Given the description of an element on the screen output the (x, y) to click on. 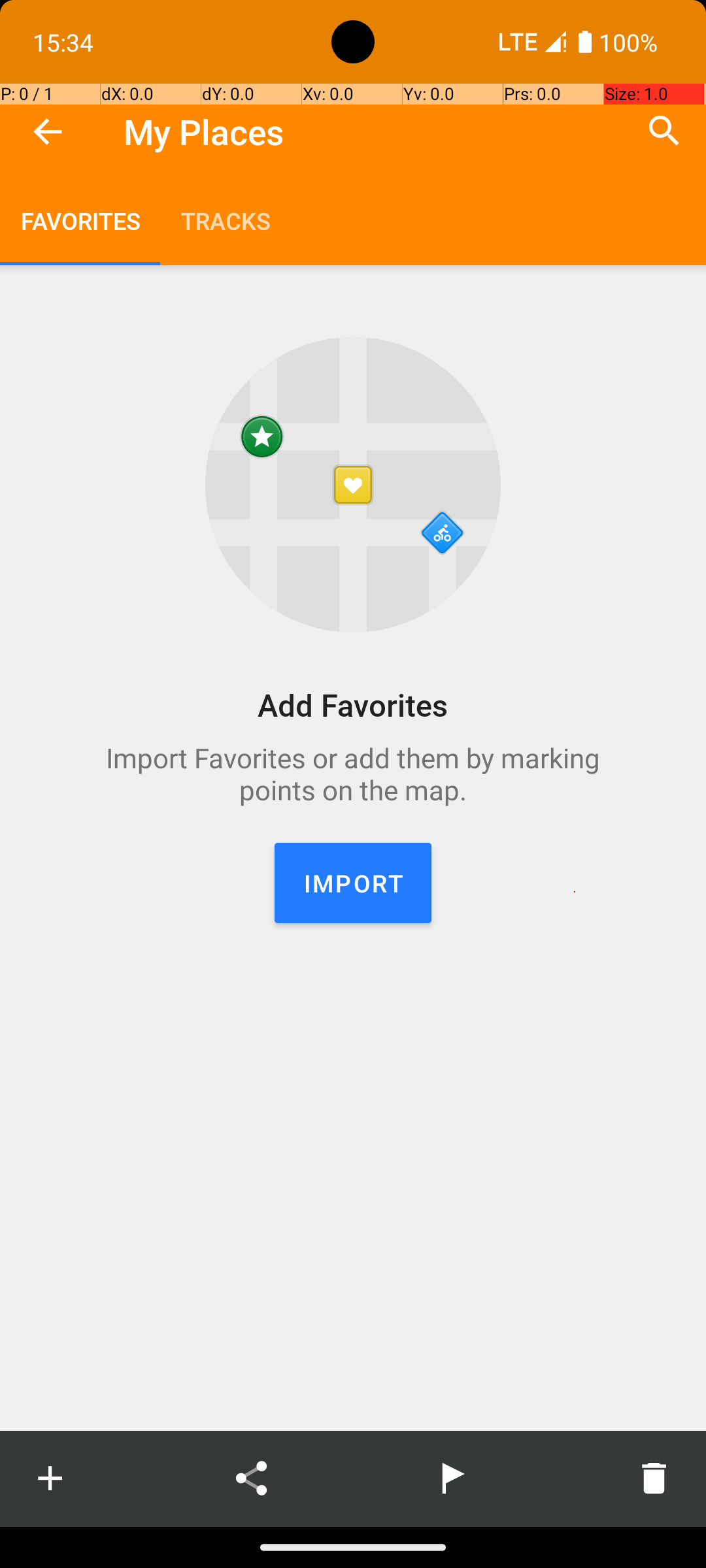
My Places Element type: android.widget.TextView (203, 131)
Add to 'Favorites' Element type: android.widget.Button (50, 1478)
Select map markers Element type: android.widget.Button (452, 1478)
FAVORITES Element type: android.widget.TextView (80, 220)
Add Favorites Element type: android.widget.TextView (352, 704)
Import Favorites or add them by marking points on the map. Element type: android.widget.TextView (352, 773)
IMPORT Element type: android.widget.Button (352, 882)
